Given the description of an element on the screen output the (x, y) to click on. 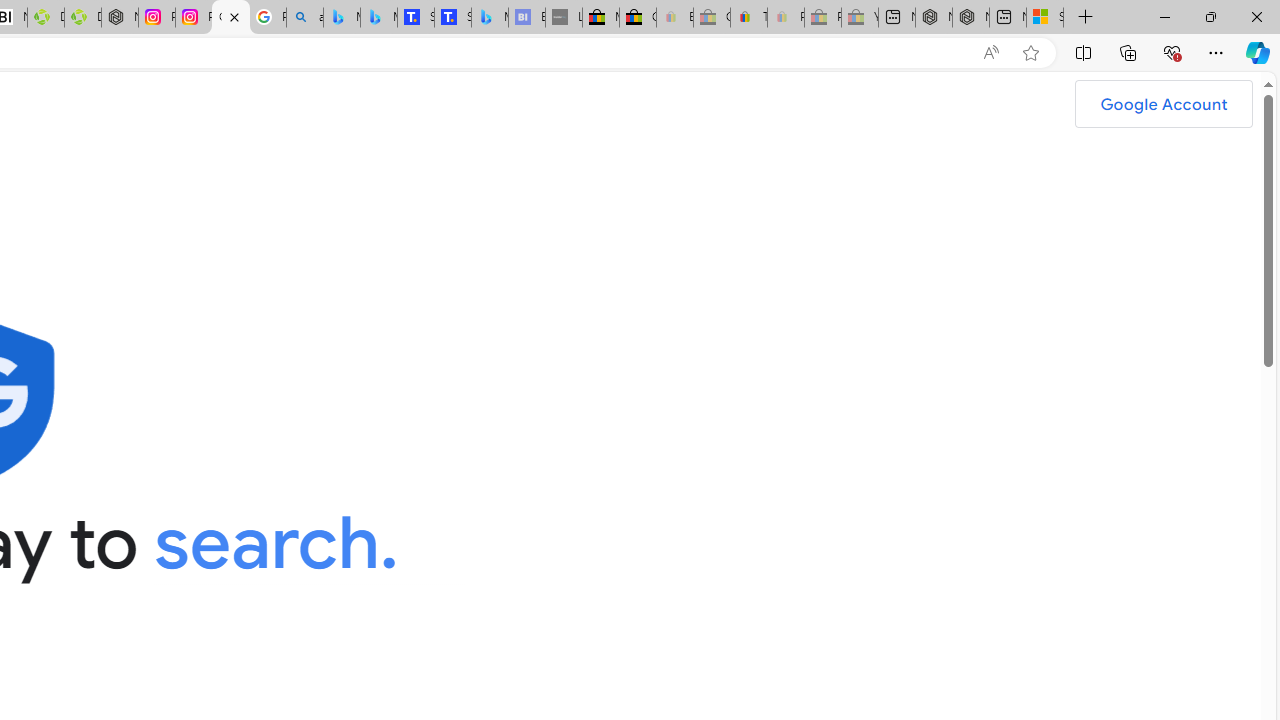
Descarga Driver Updater (83, 17)
Nordace - Summer Adventures 2024 (971, 17)
Google Safety Center - Stay Safer Online (230, 17)
Shangri-La Bangkok, Hotel reviews and Room rates (453, 17)
